Given the description of an element on the screen output the (x, y) to click on. 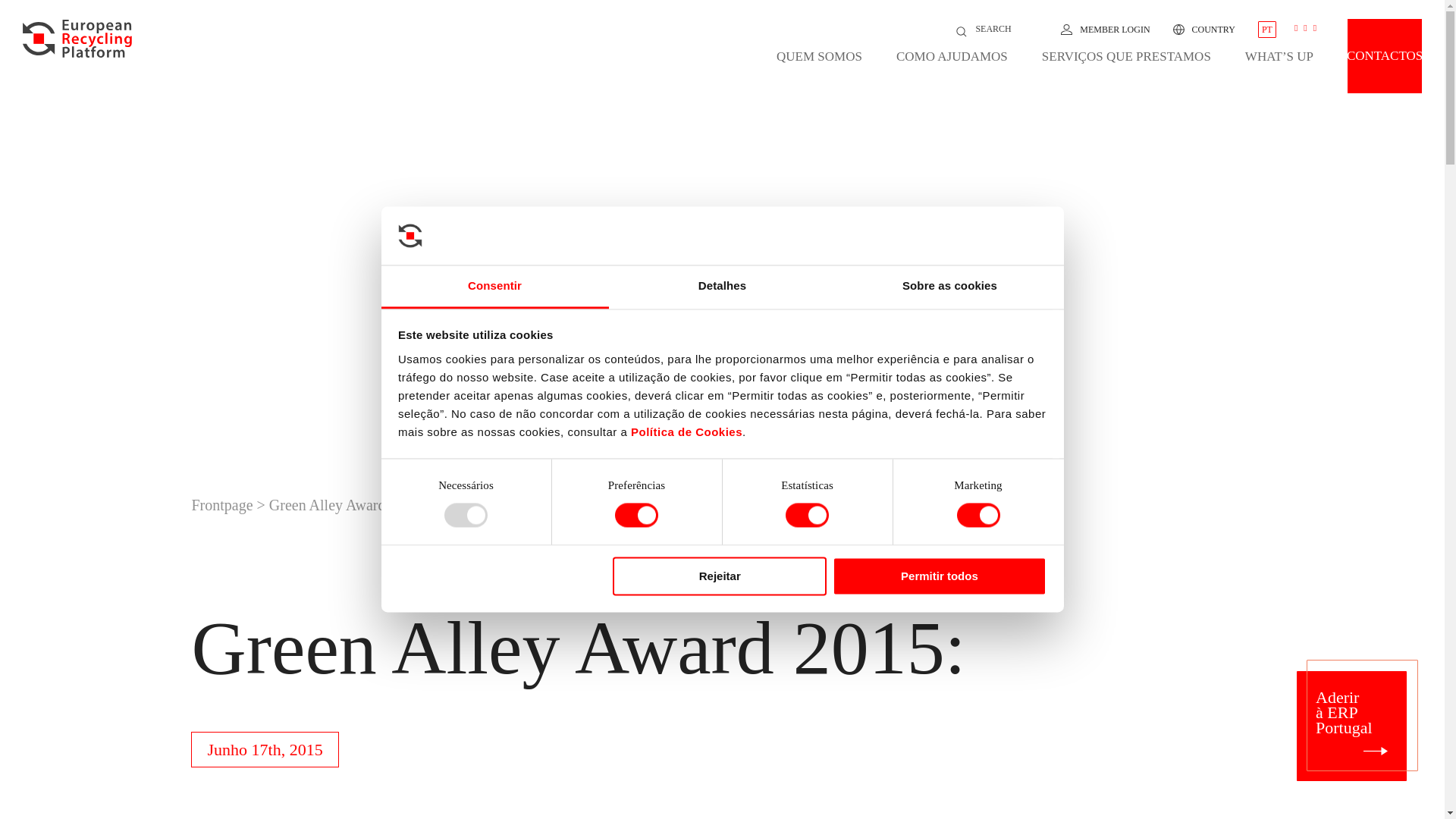
Consentir (494, 286)
Sobre as cookies (948, 286)
Detalhes (721, 286)
